Given the description of an element on the screen output the (x, y) to click on. 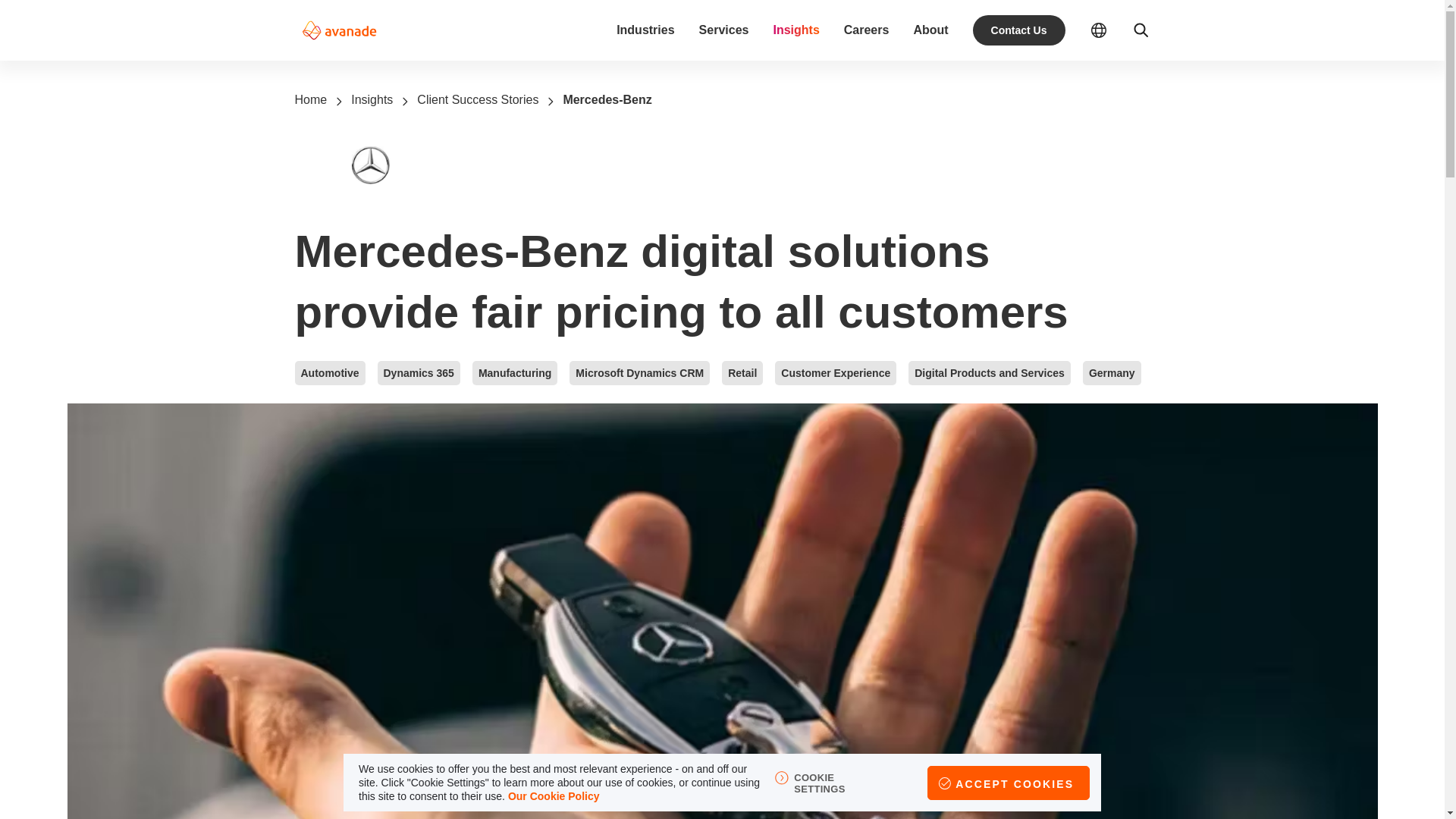
Site Selector icon (1110, 30)
Mercedes-Benz (606, 99)
Careers (866, 29)
Industries (644, 29)
Insights (795, 29)
Insights (371, 99)
Home (310, 99)
About (929, 29)
Contact Us (1018, 30)
Search icon (1140, 30)
Contact Us (1018, 30)
Client Success Stories (477, 99)
Services (723, 29)
